Given the description of an element on the screen output the (x, y) to click on. 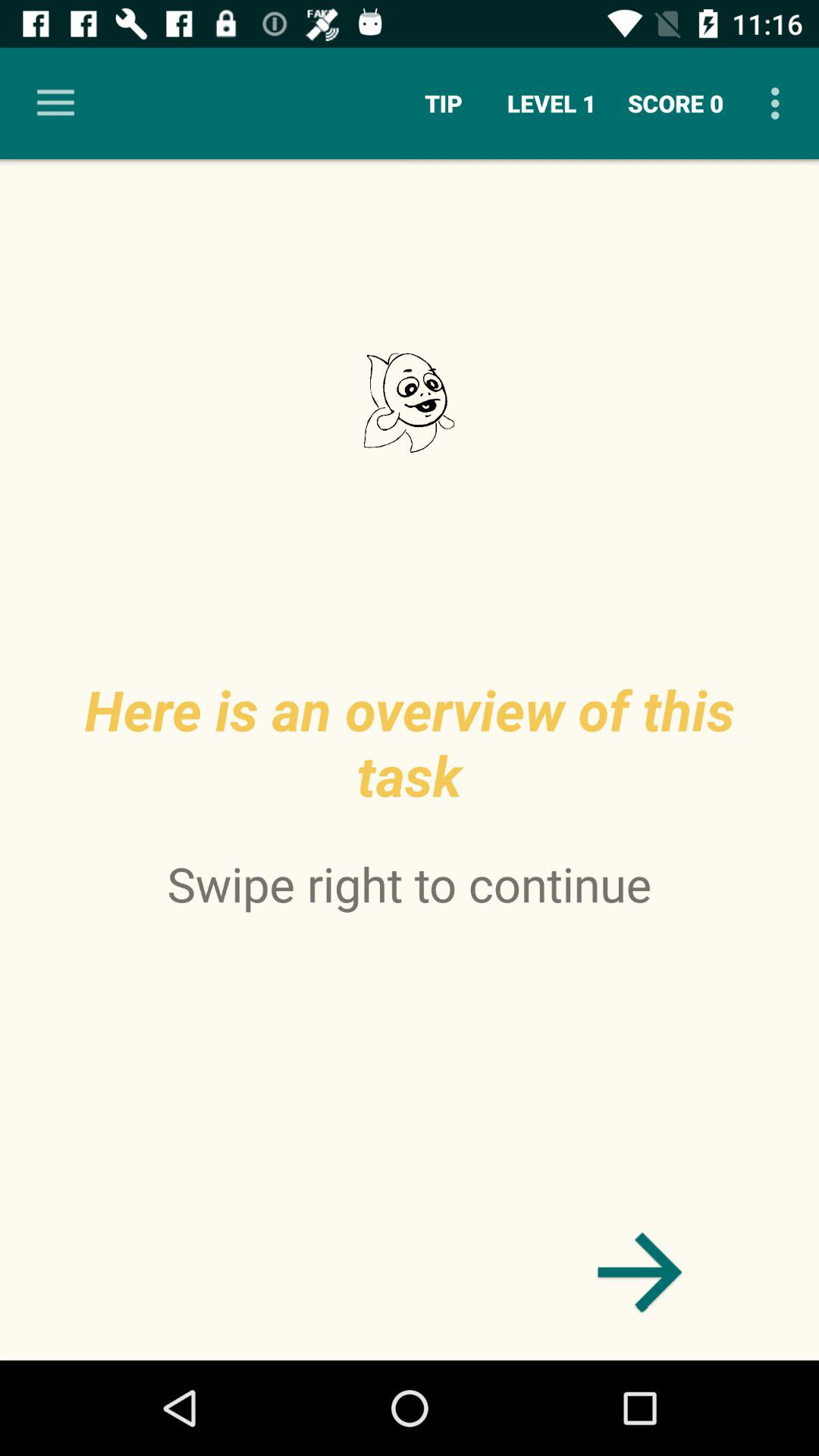
select the icon to the right of tip icon (551, 103)
